Given the description of an element on the screen output the (x, y) to click on. 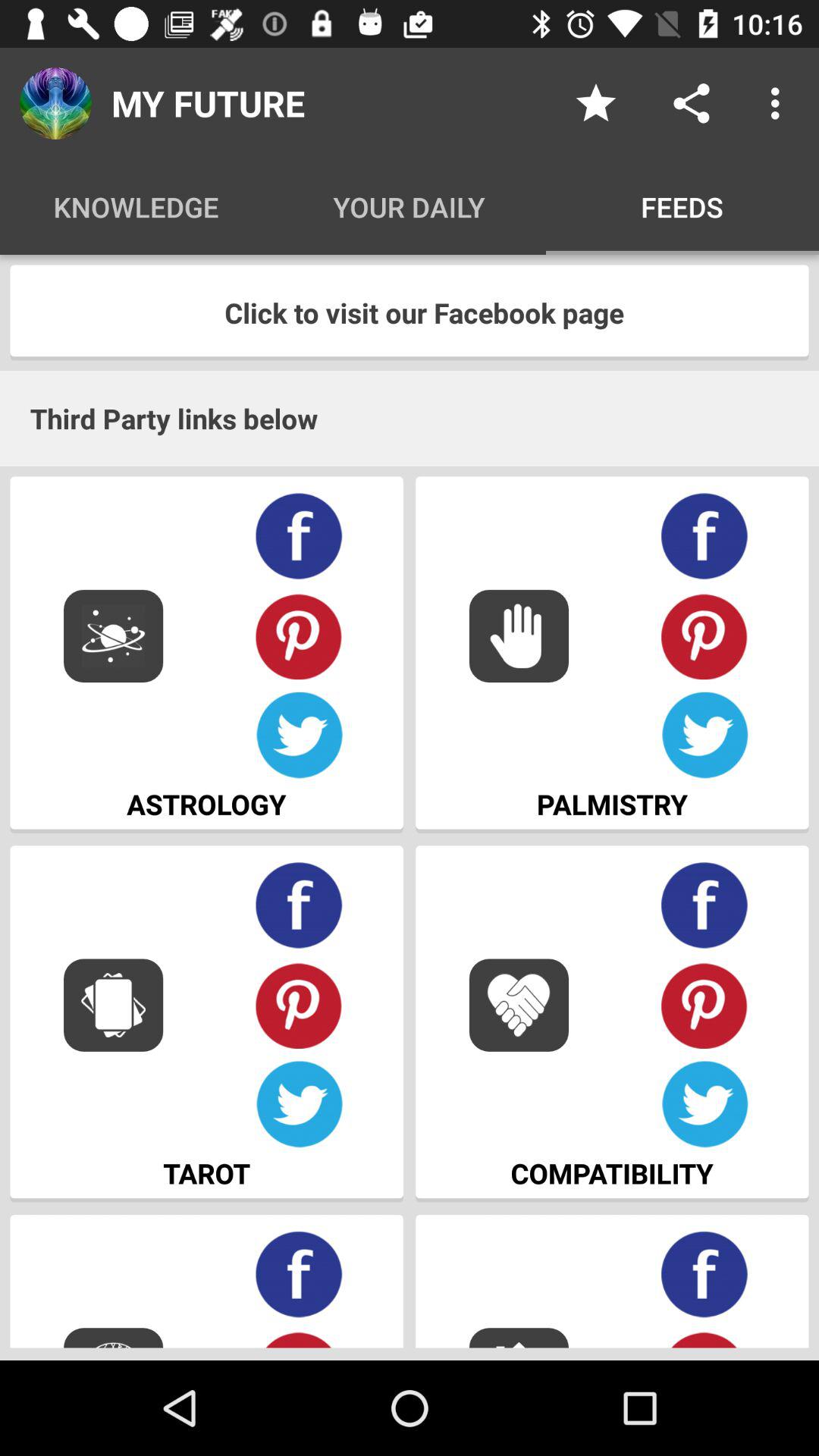
launch icon above the feeds (595, 103)
